Given the description of an element on the screen output the (x, y) to click on. 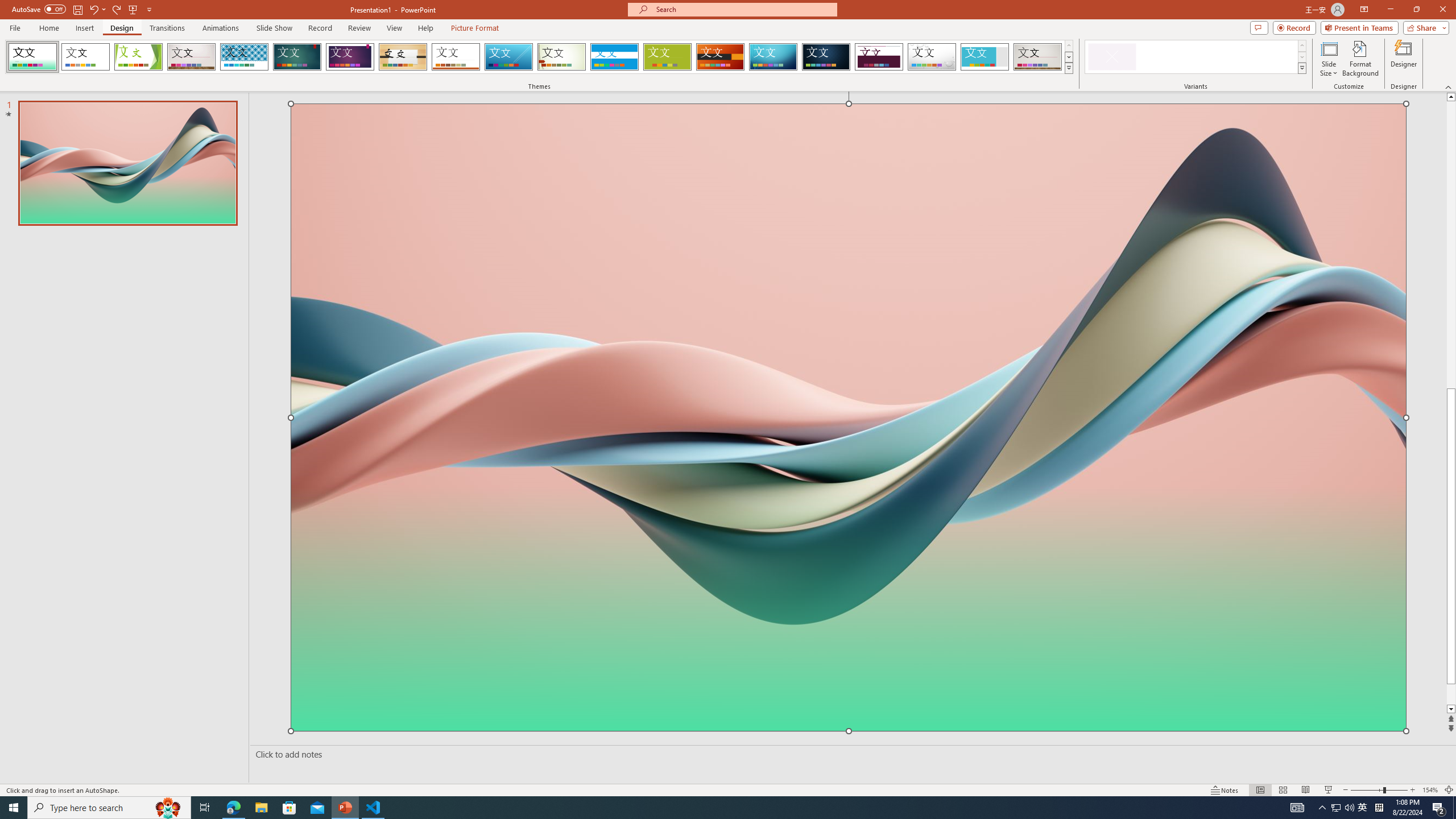
Retrospect (455, 56)
Slide Size (1328, 58)
Facet (138, 56)
Office Theme (85, 56)
Droplet (931, 56)
